Given the description of an element on the screen output the (x, y) to click on. 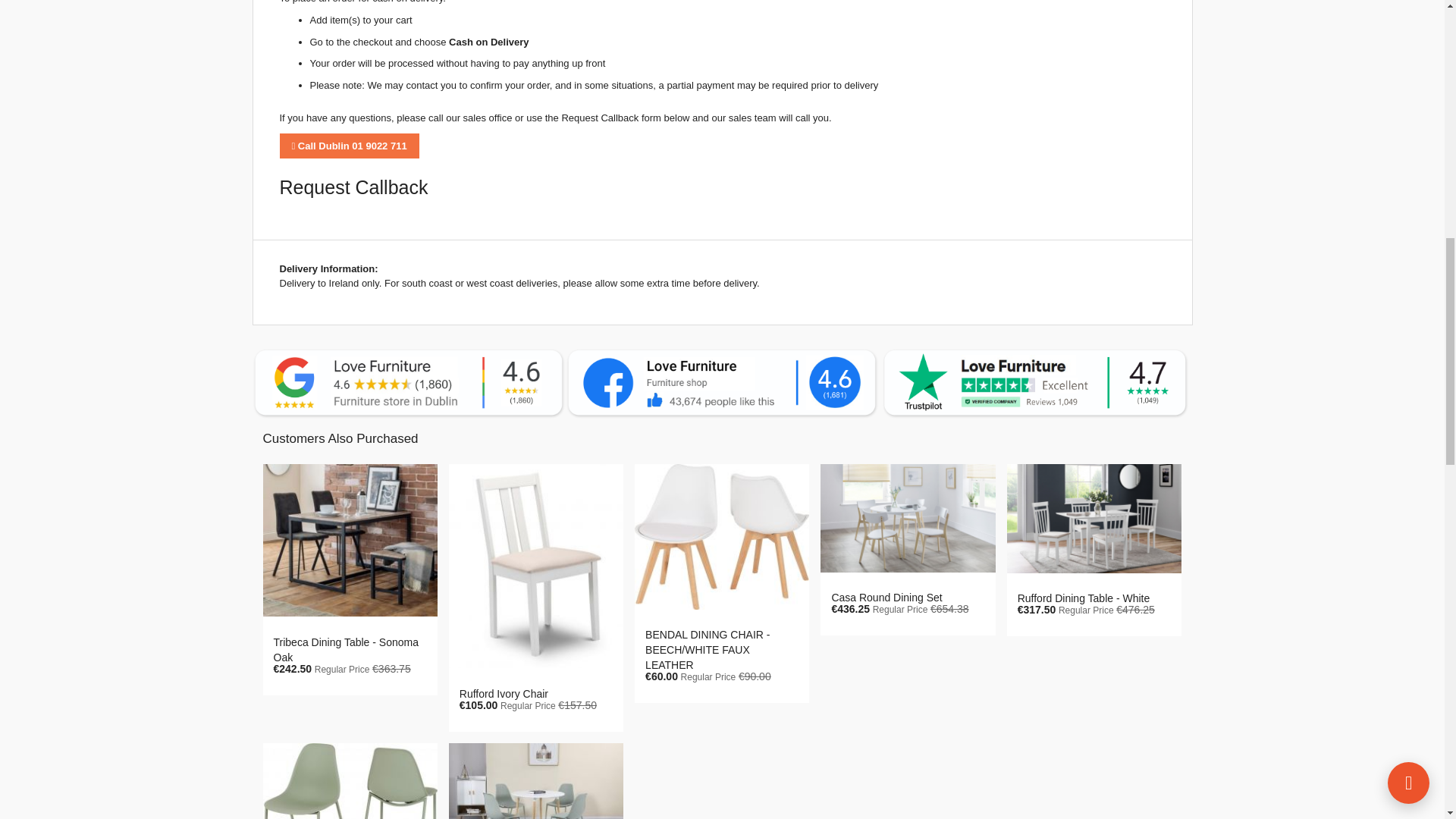
Add to Cart (505, 758)
Add to Cart (877, 662)
Rufford Dining Table - White (1083, 598)
Tribeca Dining Table - Sonoma Oak (345, 649)
Add to Cart (1064, 663)
Casa Round Dining Set (886, 597)
Add to Cart (691, 729)
Add to Cart (319, 722)
Rufford Ivory Chair (504, 693)
